Given the description of an element on the screen output the (x, y) to click on. 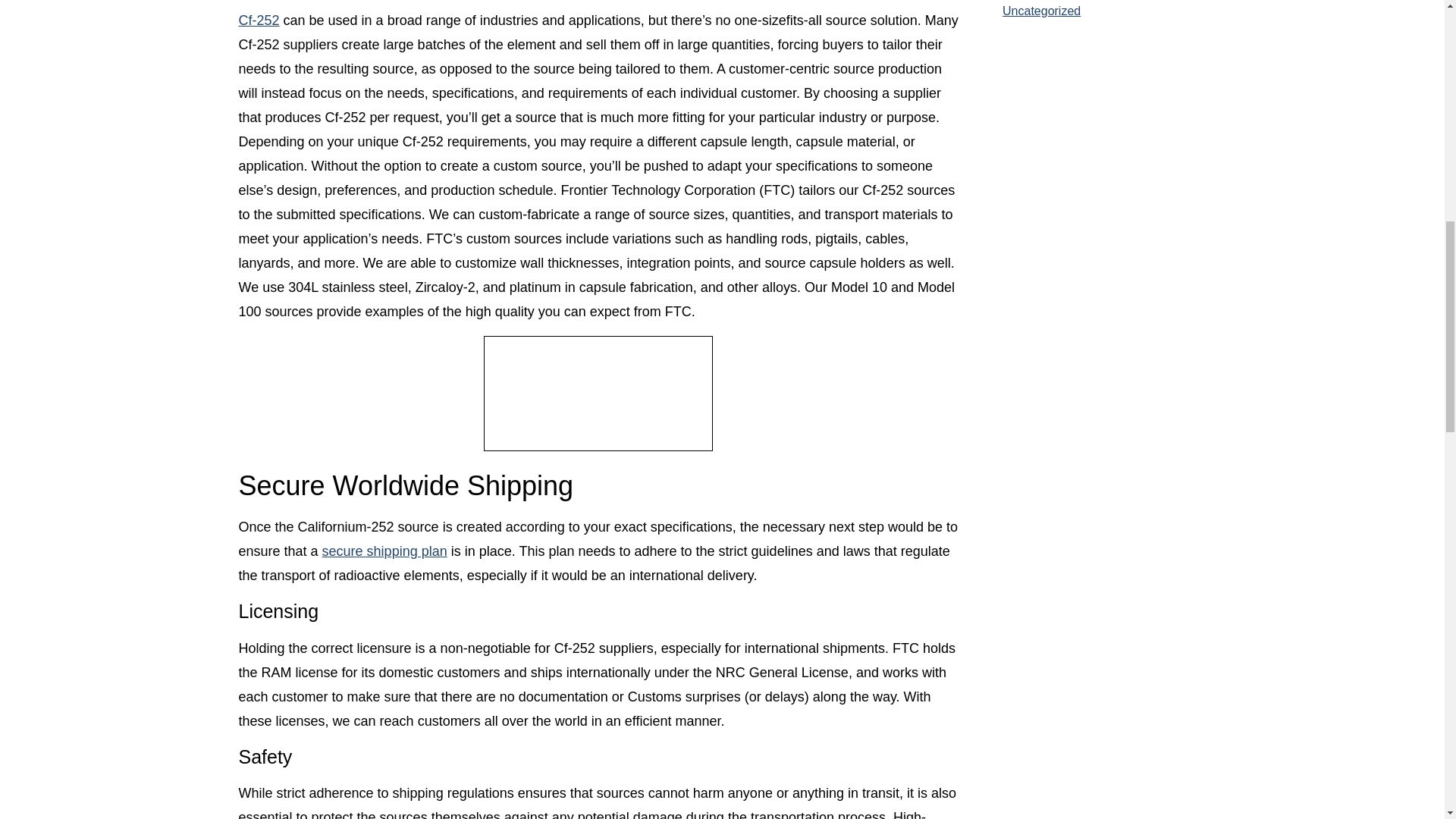
Cf-252 Packaging (598, 393)
